Given the description of an element on the screen output the (x, y) to click on. 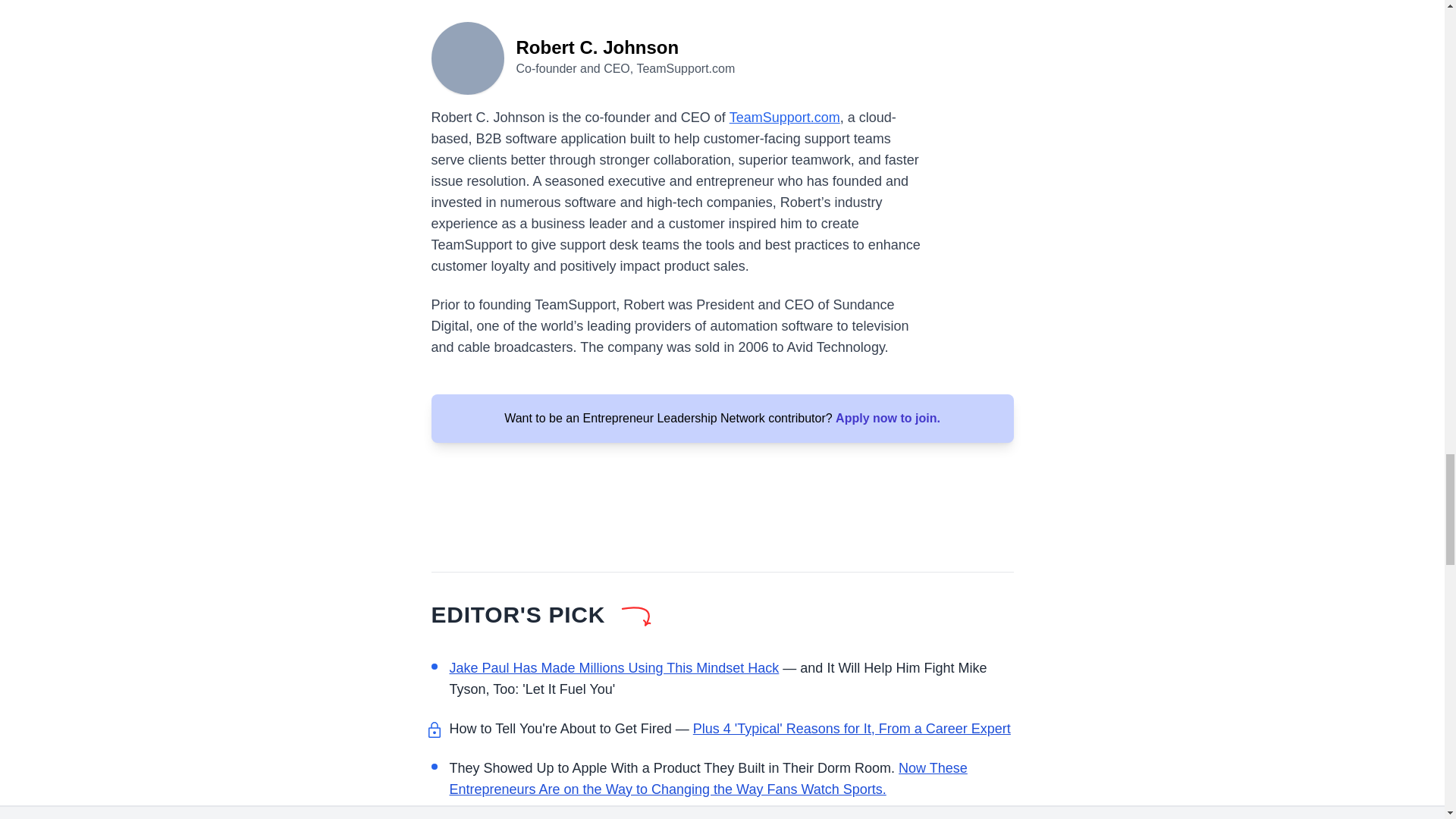
Robert C. Johnson (466, 56)
